Given the description of an element on the screen output the (x, y) to click on. 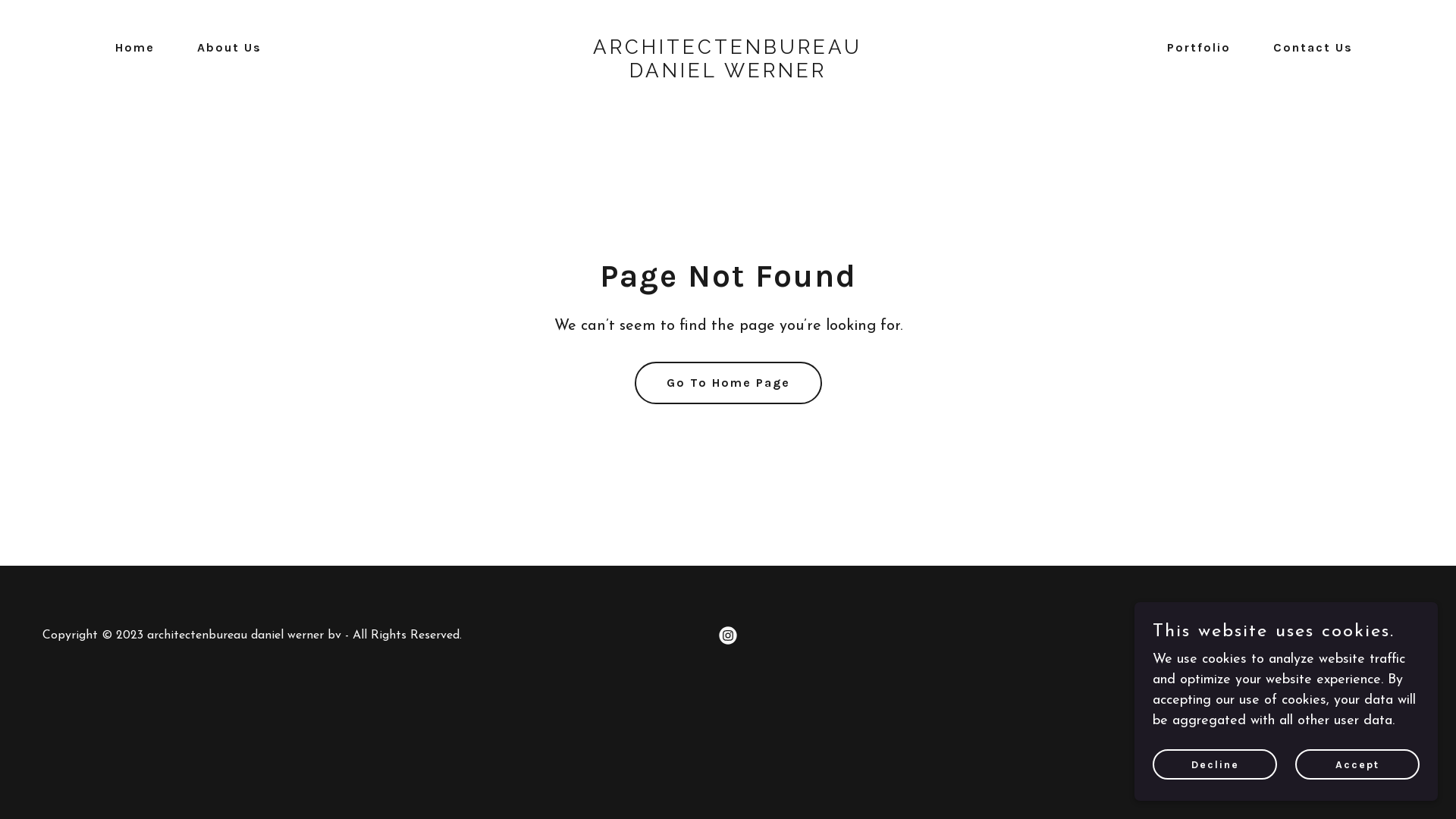
GoDaddy Element type: text (1387, 635)
ARCHITECTENBUREAU
DANIEL WERNER Element type: text (727, 73)
Go To Home Page Element type: text (727, 382)
Home Element type: text (128, 47)
Accept Element type: text (1357, 764)
Decline Element type: text (1214, 764)
Contact Us Element type: text (1306, 47)
About Us Element type: text (223, 47)
Portfolio Element type: text (1192, 47)
